Given the description of an element on the screen output the (x, y) to click on. 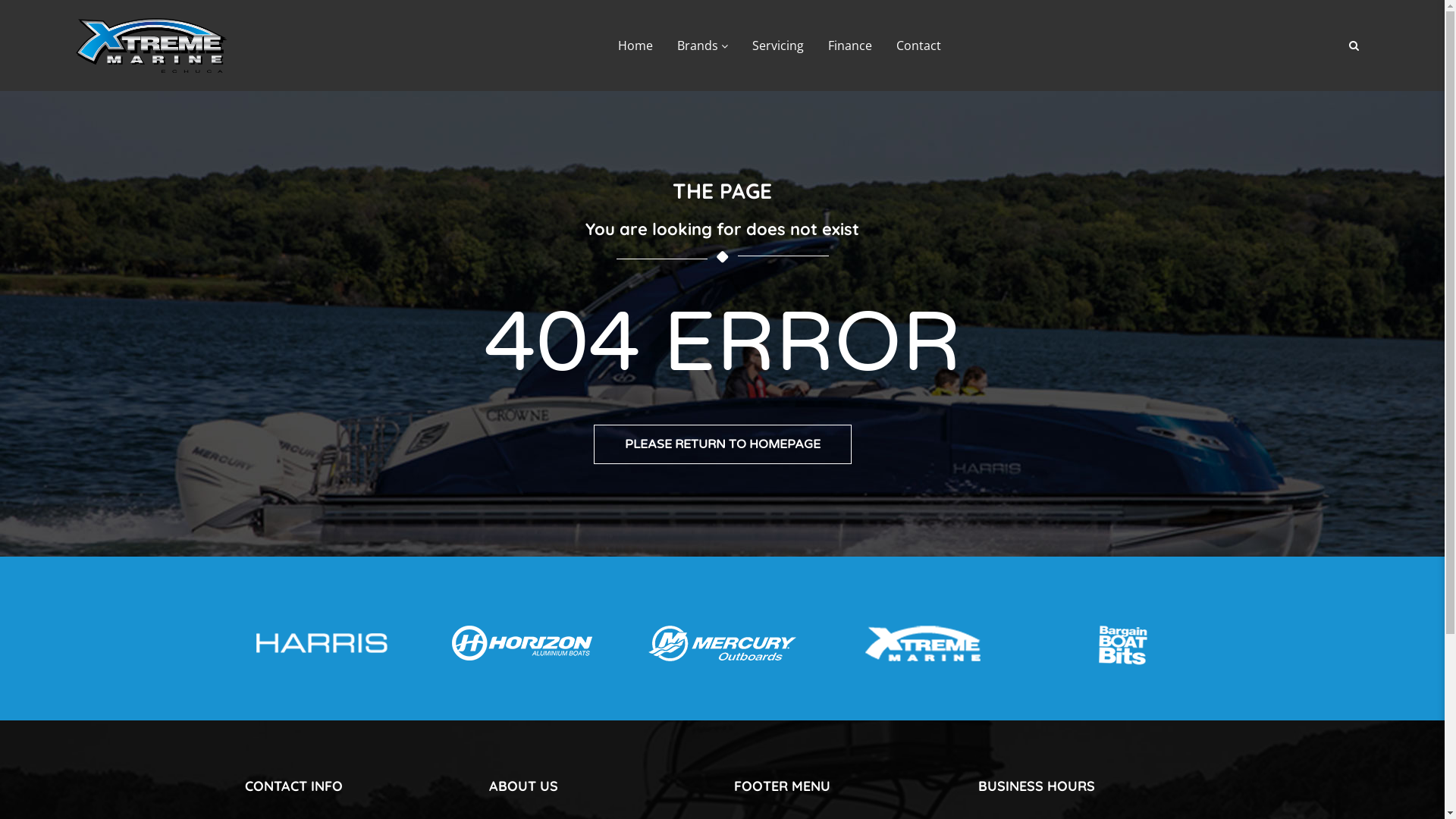
Finance Element type: text (849, 45)
Contact Element type: text (918, 45)
Xtreme Marine - Echuca Element type: hover (151, 45)
PLEASE RETURN TO HOMEPAGE Element type: text (721, 444)
Brands Element type: text (701, 45)
Servicing Element type: text (777, 45)
Home Element type: text (634, 45)
